Given the description of an element on the screen output the (x, y) to click on. 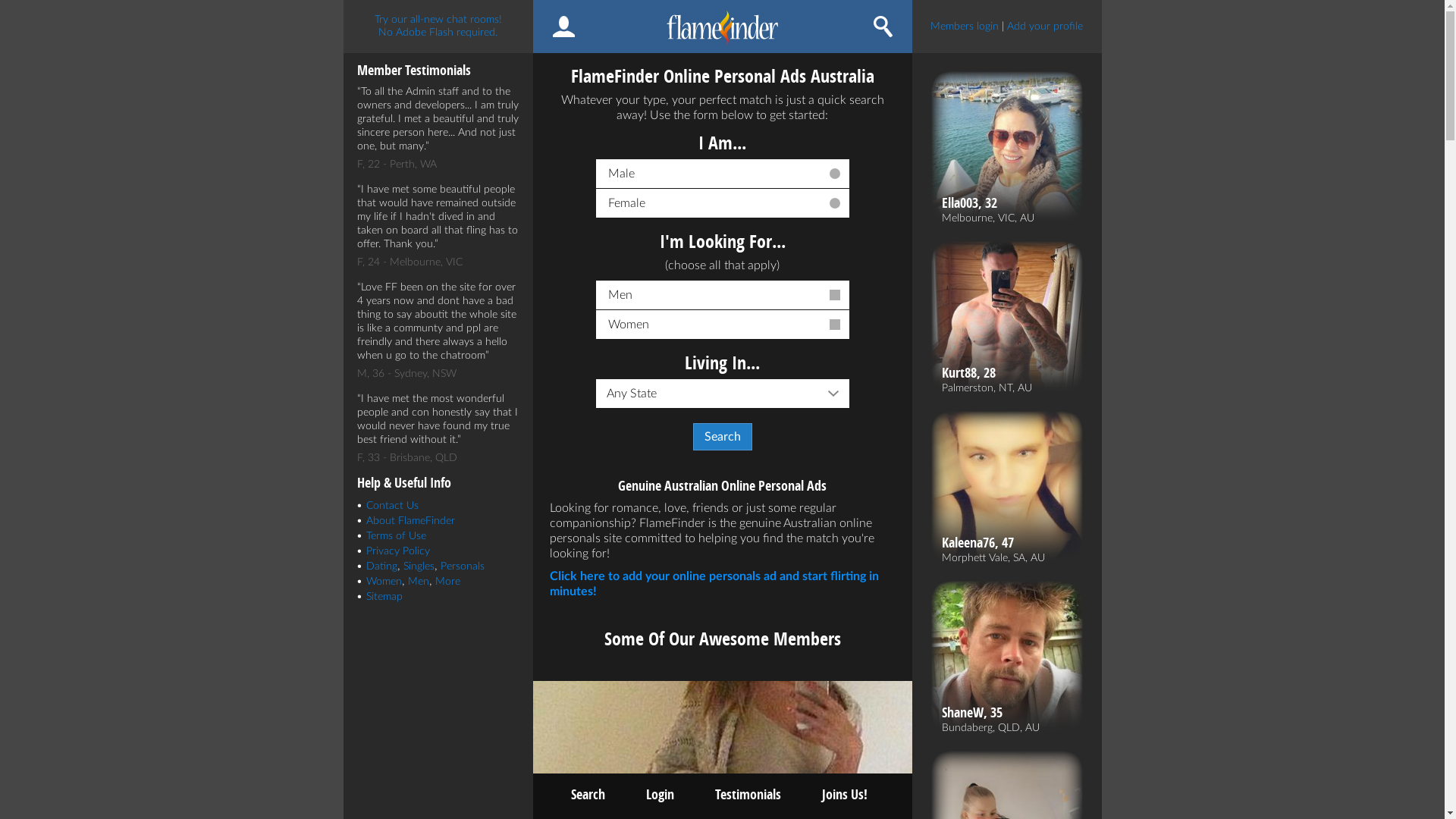
Singles Element type: text (418, 566)
Terms of Use Element type: text (395, 535)
Kurt88, 28 Element type: text (986, 373)
Search Element type: text (587, 793)
Kaleena76, 47 Element type: text (992, 542)
Login Element type: text (660, 793)
Try our all-new chat rooms!
No Adobe Flash required. Element type: text (437, 26)
Search Element type: text (722, 436)
Contact Us Element type: text (391, 505)
ShaneW, 35 Element type: text (990, 712)
Female Element type: text (722, 203)
Personals Element type: text (461, 566)
Women Element type: text (722, 324)
Dating Element type: text (380, 566)
Privacy Policy Element type: text (397, 551)
Member Search Element type: hover (882, 26)
Men Element type: text (722, 295)
Ella003, 32 Element type: text (987, 203)
Women Element type: text (383, 581)
Men Element type: text (418, 581)
More Element type: text (447, 581)
Members login Element type: text (964, 26)
About FlameFinder Element type: text (409, 520)
Testimonials Element type: text (747, 793)
Male Element type: text (722, 173)
Add your profile Element type: text (1044, 26)
Joins Us! Element type: text (844, 793)
Sitemap Element type: text (383, 596)
